Given the description of an element on the screen output the (x, y) to click on. 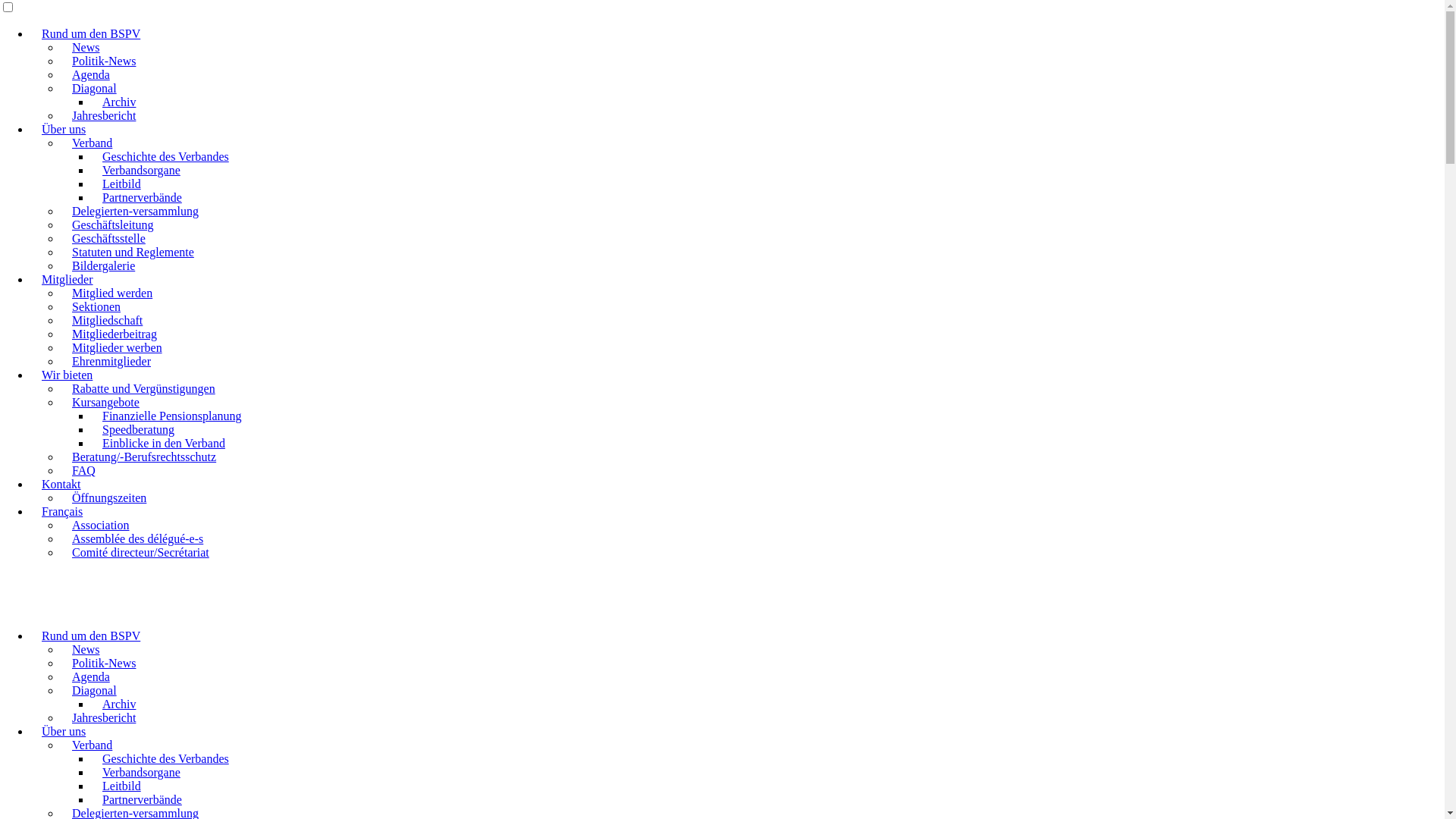
Statuten und Reglemente Element type: text (132, 252)
Archiv Element type: text (119, 101)
Delegierten-versammlung Element type: text (135, 211)
Finanzielle Pensionsplanung Element type: text (172, 415)
Verbandsorgane Element type: text (141, 170)
Politik-News Element type: text (103, 61)
Rund um den BSPV Element type: text (90, 33)
Verbandsorgane Element type: text (141, 772)
FAQ Element type: text (83, 470)
Geschichte des Verbandes Element type: text (165, 156)
News Element type: text (85, 649)
Verband Element type: text (91, 745)
Diagonal Element type: text (94, 88)
Ehrenmitglieder Element type: text (111, 361)
Leitbild Element type: text (121, 785)
Geschichte des Verbandes Element type: text (165, 758)
Diagonal Element type: text (94, 690)
Jahresbericht Element type: text (103, 717)
Leitbild Element type: text (121, 183)
Einblicke in den Verband Element type: text (163, 443)
Archiv Element type: text (119, 704)
Beratung/-Berufsrechtsschutz Element type: text (143, 456)
Mitglieder Element type: text (67, 279)
Mitglied werden Element type: text (111, 293)
News Element type: text (85, 47)
Wir bieten Element type: text (66, 374)
Association Element type: text (100, 525)
Kontakt Element type: text (61, 484)
Agenda Element type: text (90, 74)
Speedberatung Element type: text (138, 429)
Jahresbericht Element type: text (103, 115)
Rund um den BSPV Element type: text (90, 635)
Verband Element type: text (91, 142)
Agenda Element type: text (90, 676)
Mitgliedschaft Element type: text (106, 320)
Bildergalerie Element type: text (103, 265)
Mitglieder werben Element type: text (116, 347)
Politik-News Element type: text (103, 663)
Sektionen Element type: text (95, 306)
Kursangebote Element type: text (105, 402)
Mitgliederbeitrag Element type: text (114, 334)
